Given the description of an element on the screen output the (x, y) to click on. 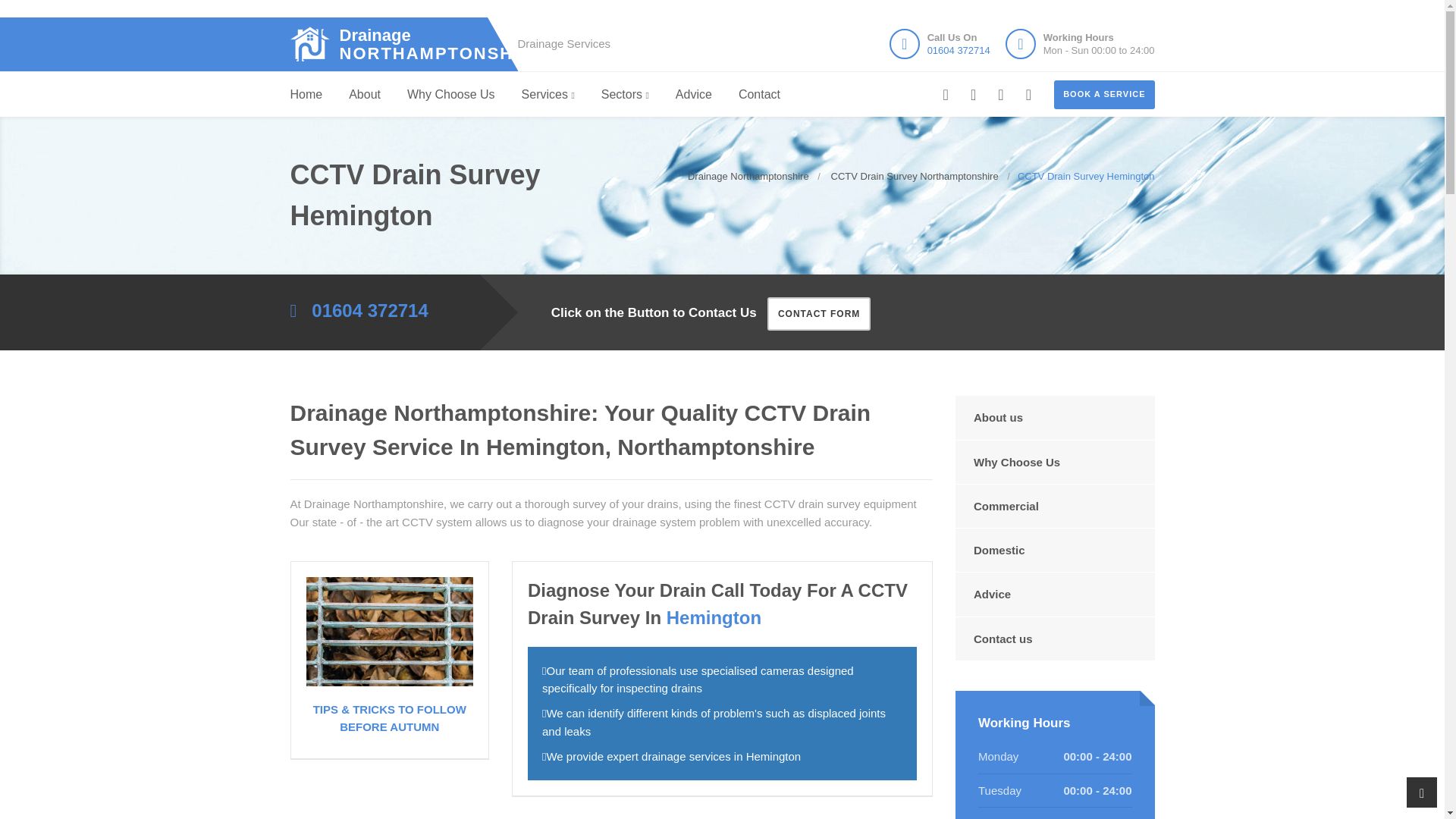
Drainage Northamptonshire (395, 44)
BOOK A SERVICE (1104, 94)
Sectors (625, 94)
Why Choose Us (395, 44)
Services (451, 94)
01604 372714 (548, 94)
